Given the description of an element on the screen output the (x, y) to click on. 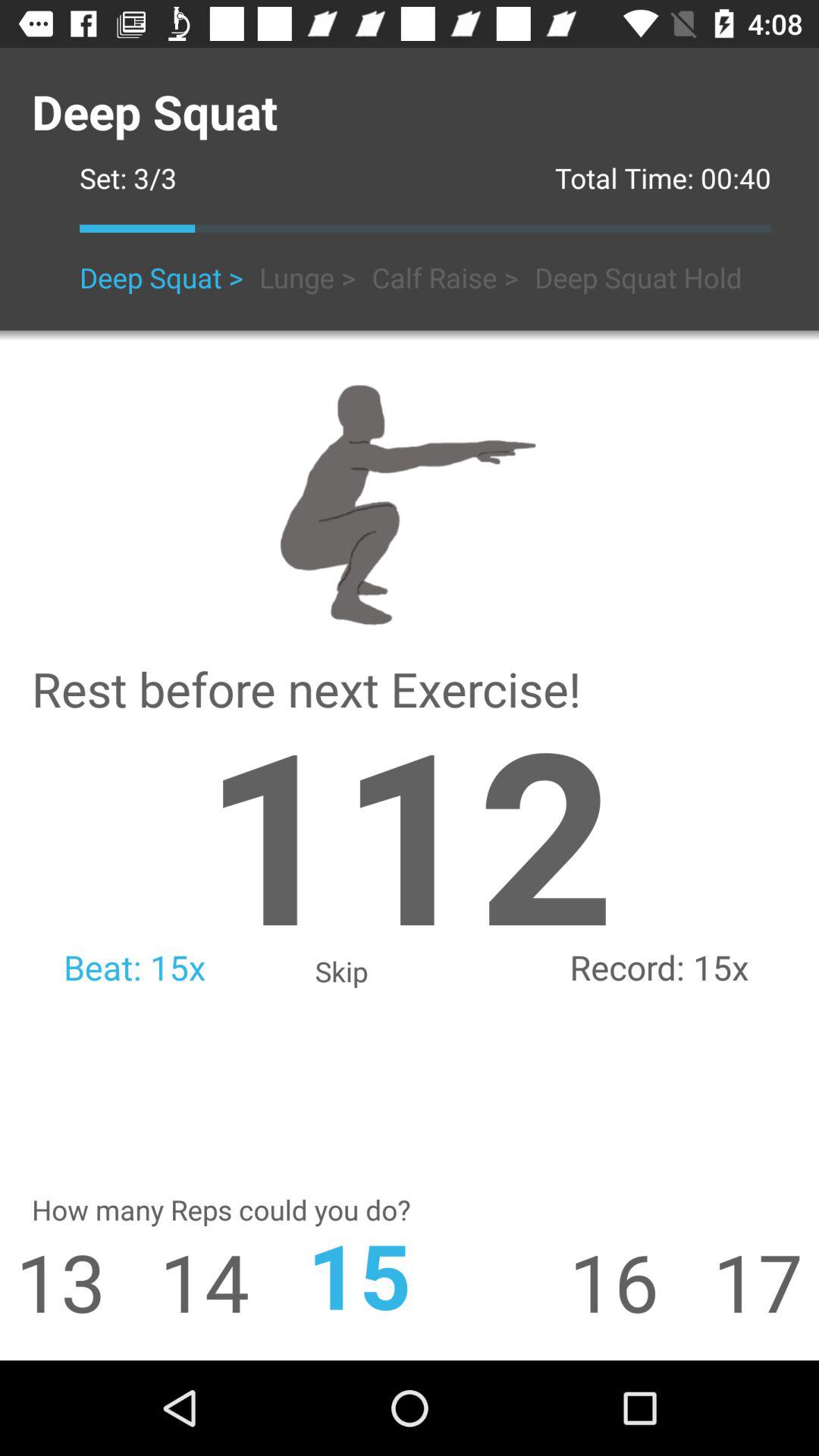
choose the 15 item (409, 1274)
